Given the description of an element on the screen output the (x, y) to click on. 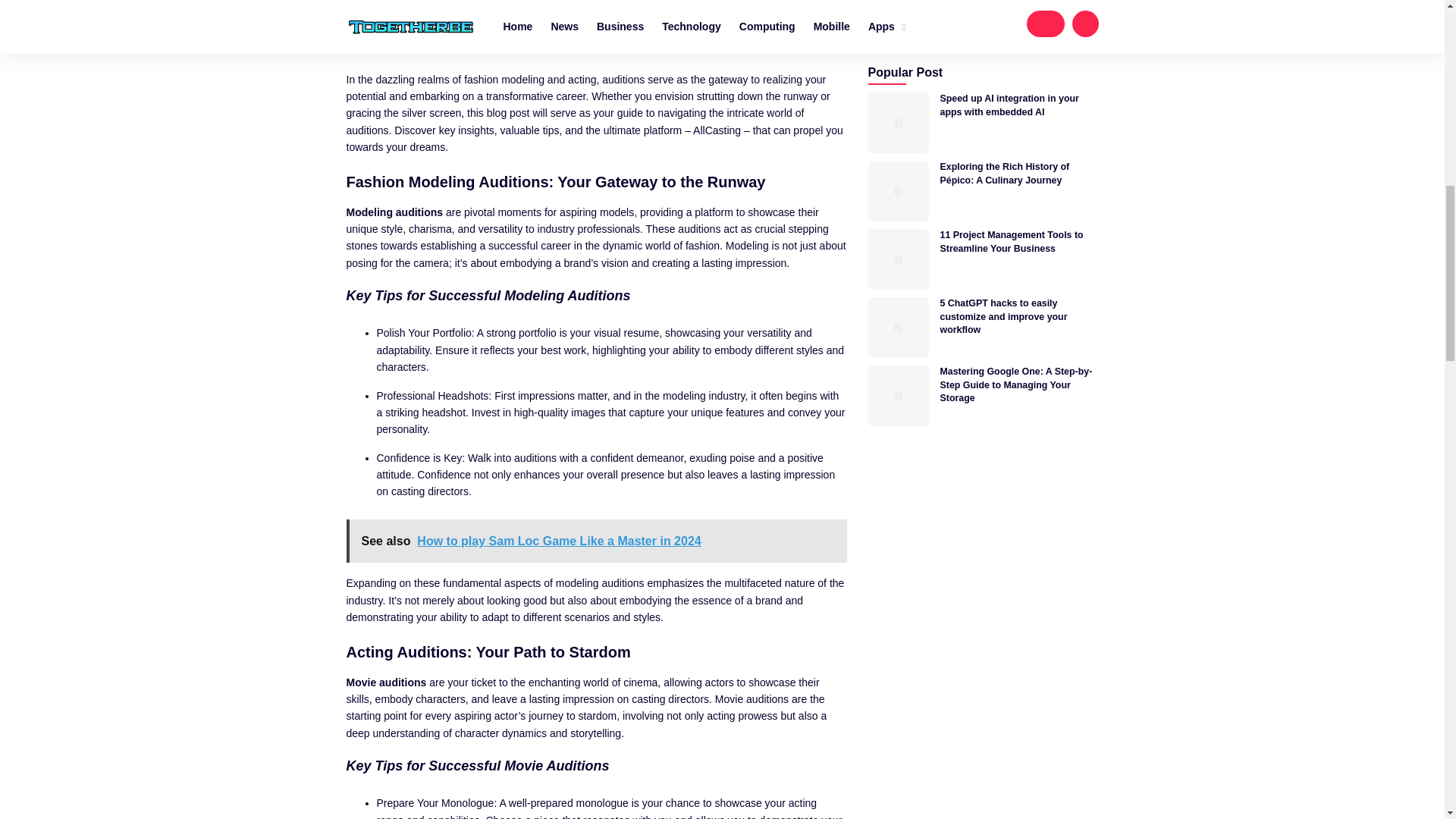
See also  How to play Sam Loc Game Like a Master in 2024 (595, 541)
